Given the description of an element on the screen output the (x, y) to click on. 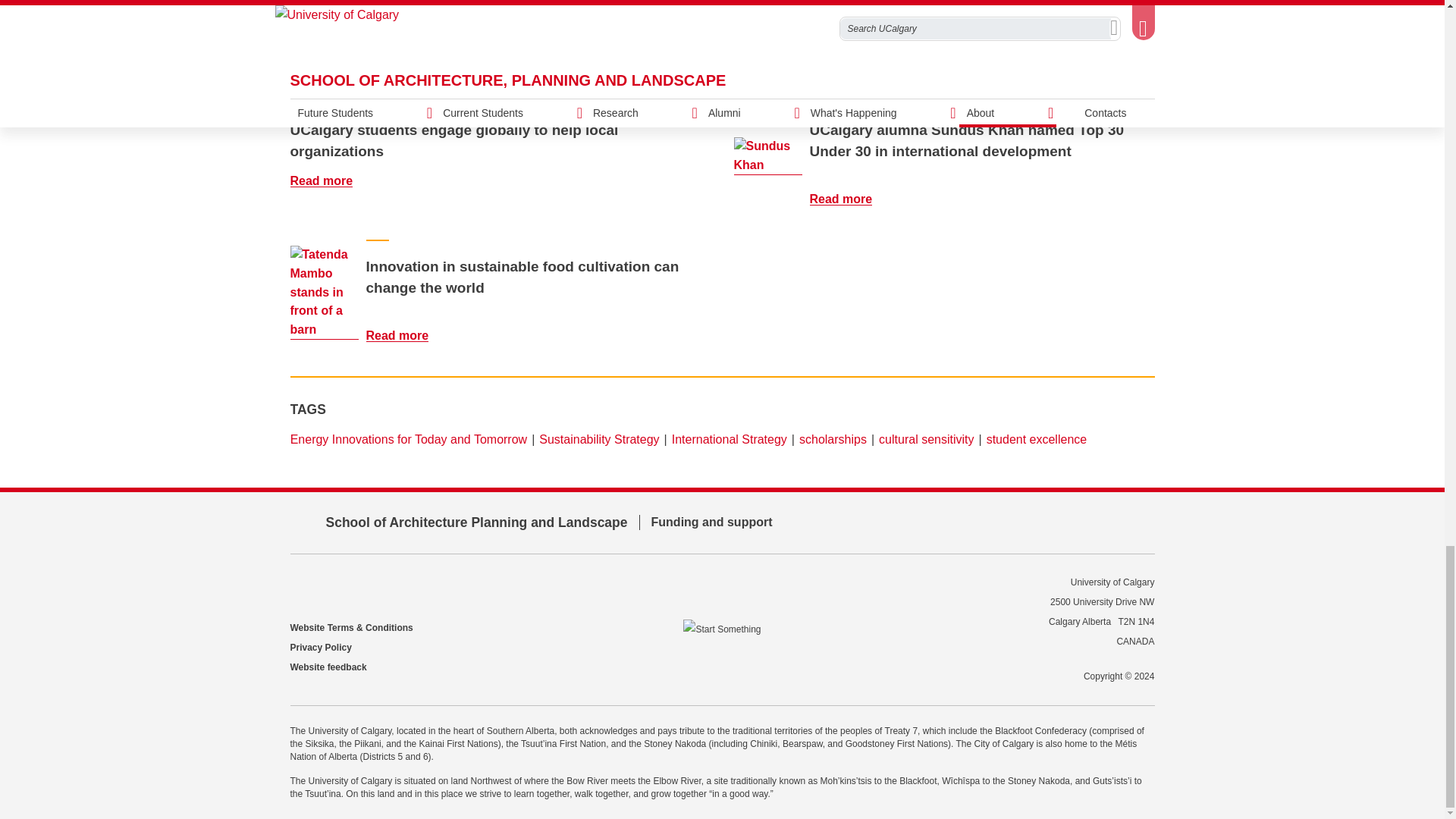
University of Calgary launches new Global Engagement Plan  (324, 25)
University of Calgary launches new Global Engagement Plan  (405, 56)
